Given the description of an element on the screen output the (x, y) to click on. 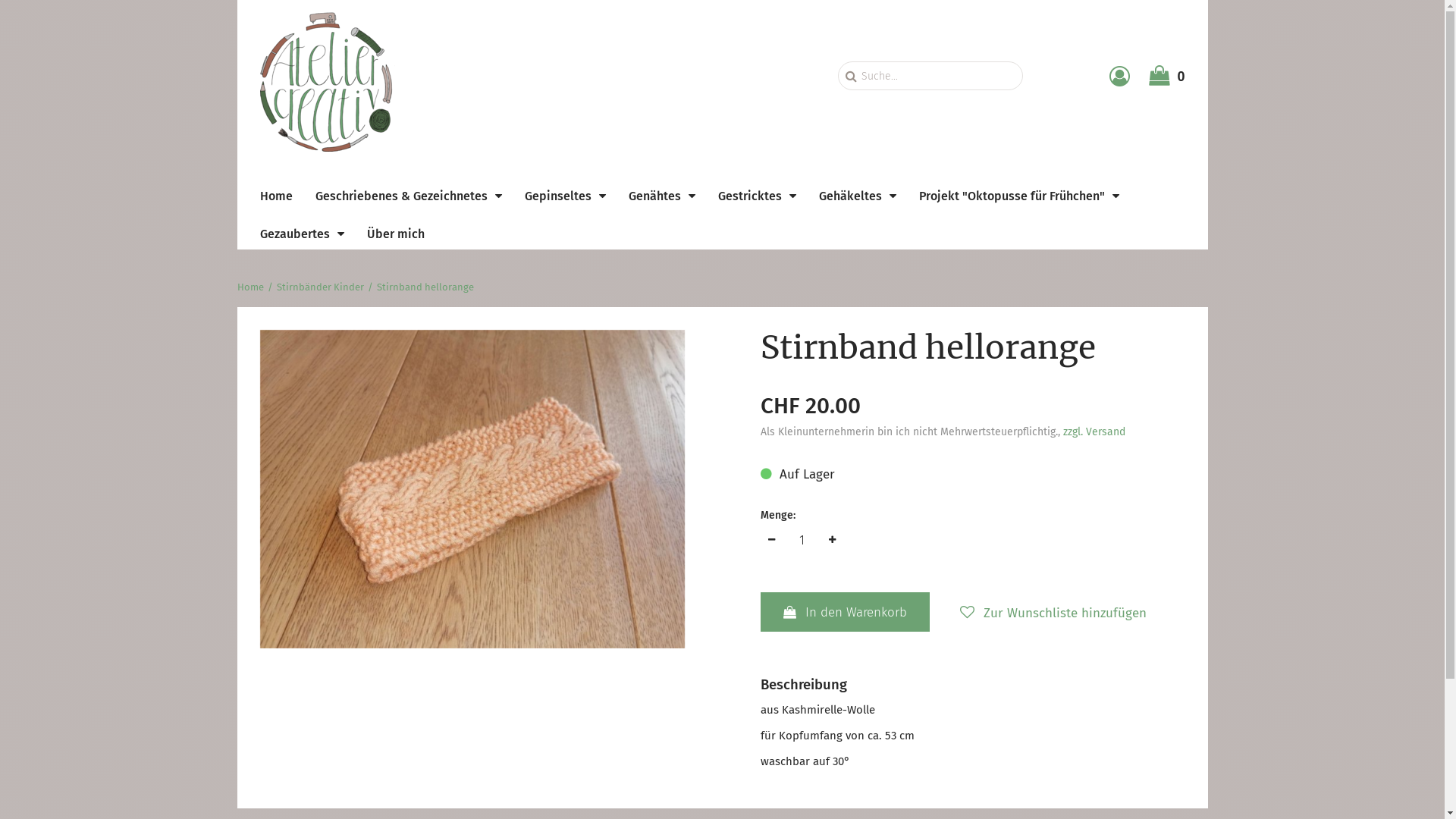
zzgl. Versand Element type: text (1094, 431)
Gestricktes Element type: text (756, 195)
Home Element type: text (249, 286)
Warenkorb anzeigen. Sie haben 0 Artikel im Warenkorb.
0 Element type: text (1166, 75)
In den Warenkorb Element type: text (843, 611)
Atelier Creativ Element type: hover (326, 75)
Geschriebenes & Gezeichnetes Element type: text (408, 195)
Gepinseltes Element type: text (564, 195)
Suche Element type: text (850, 75)
Stirnband hellorange Element type: text (424, 286)
Home Element type: text (275, 195)
Gezaubertes Element type: text (301, 233)
